Given the description of an element on the screen output the (x, y) to click on. 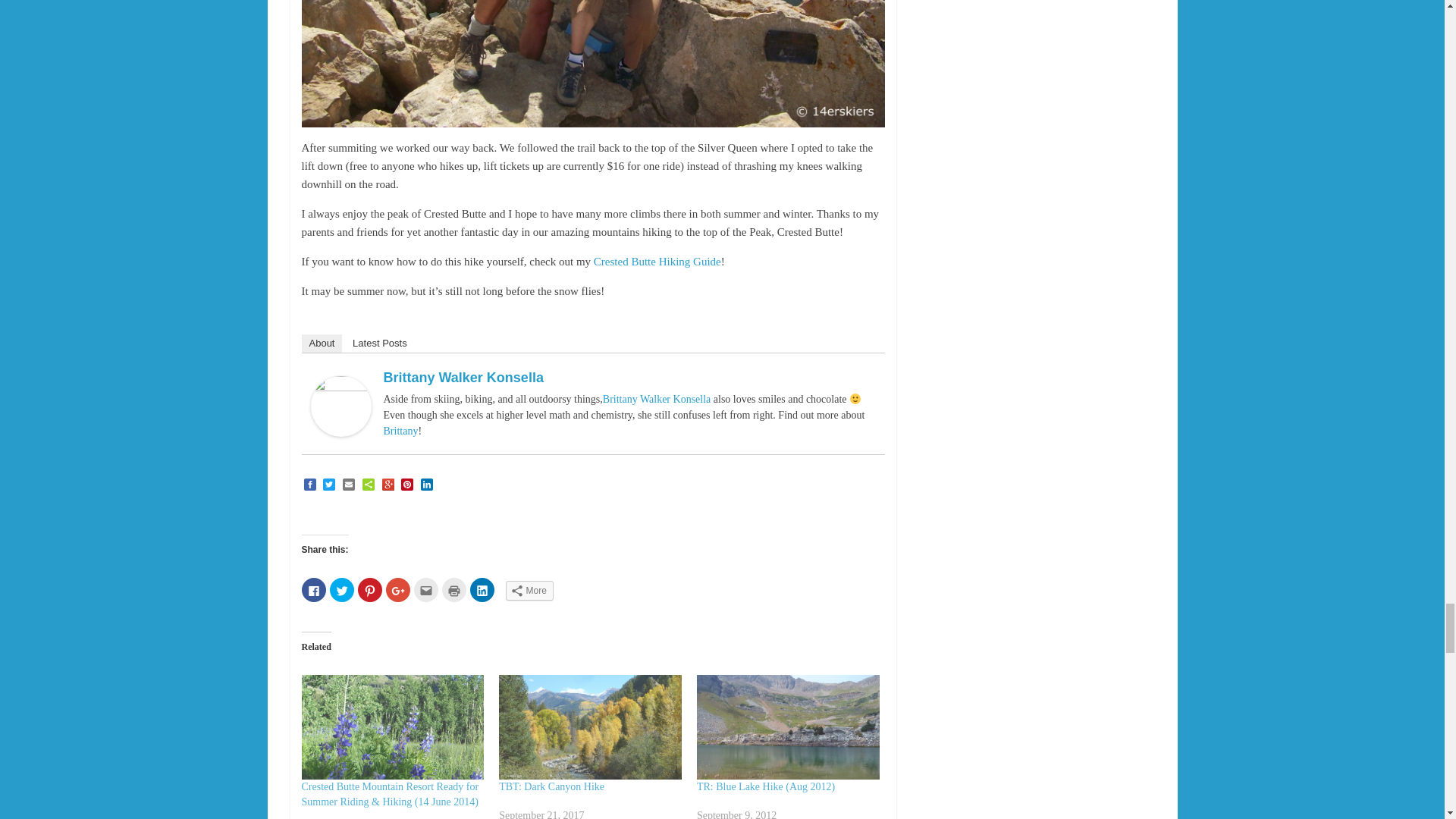
Click to share on Facebook (313, 589)
Click to share on Twitter (341, 589)
Click to share on Pinterest (369, 589)
Click to email this to a friend (425, 589)
